Given the description of an element on the screen output the (x, y) to click on. 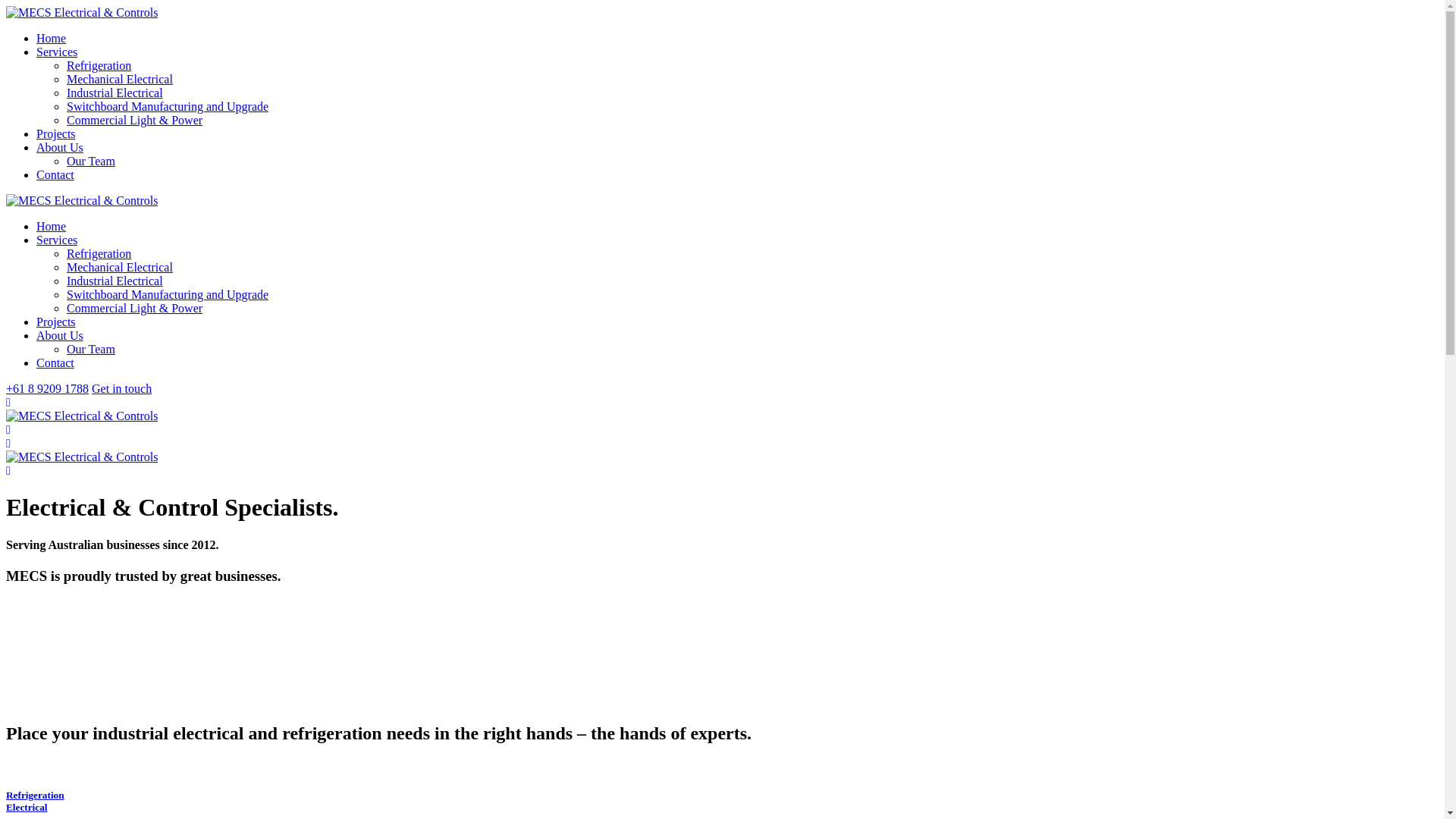
Commercial Light & Power Element type: text (134, 307)
Mechanical Electrical Element type: text (119, 78)
Switchboard Manufacturing and Upgrade Element type: text (167, 106)
Refrigeration
Electrical Element type: text (722, 801)
About Us Element type: text (59, 147)
Mechanical Electrical Element type: text (119, 266)
Contact Element type: text (55, 362)
Get in touch Element type: text (121, 388)
Our Team Element type: text (90, 348)
Our Team Element type: text (90, 160)
Contact Element type: text (55, 174)
Services Element type: text (56, 239)
Industrial Electrical Element type: text (114, 92)
Industrial Electrical Element type: text (114, 280)
Services Element type: text (56, 51)
+61 8 9209 1788 Element type: text (47, 388)
Projects Element type: text (55, 321)
Refrigeration Element type: text (98, 65)
About Us Element type: text (59, 335)
Home Element type: text (50, 225)
Projects Element type: text (55, 133)
Refrigeration Element type: text (98, 253)
Home Element type: text (50, 37)
Switchboard Manufacturing and Upgrade Element type: text (167, 294)
Commercial Light & Power Element type: text (134, 119)
